Given the description of an element on the screen output the (x, y) to click on. 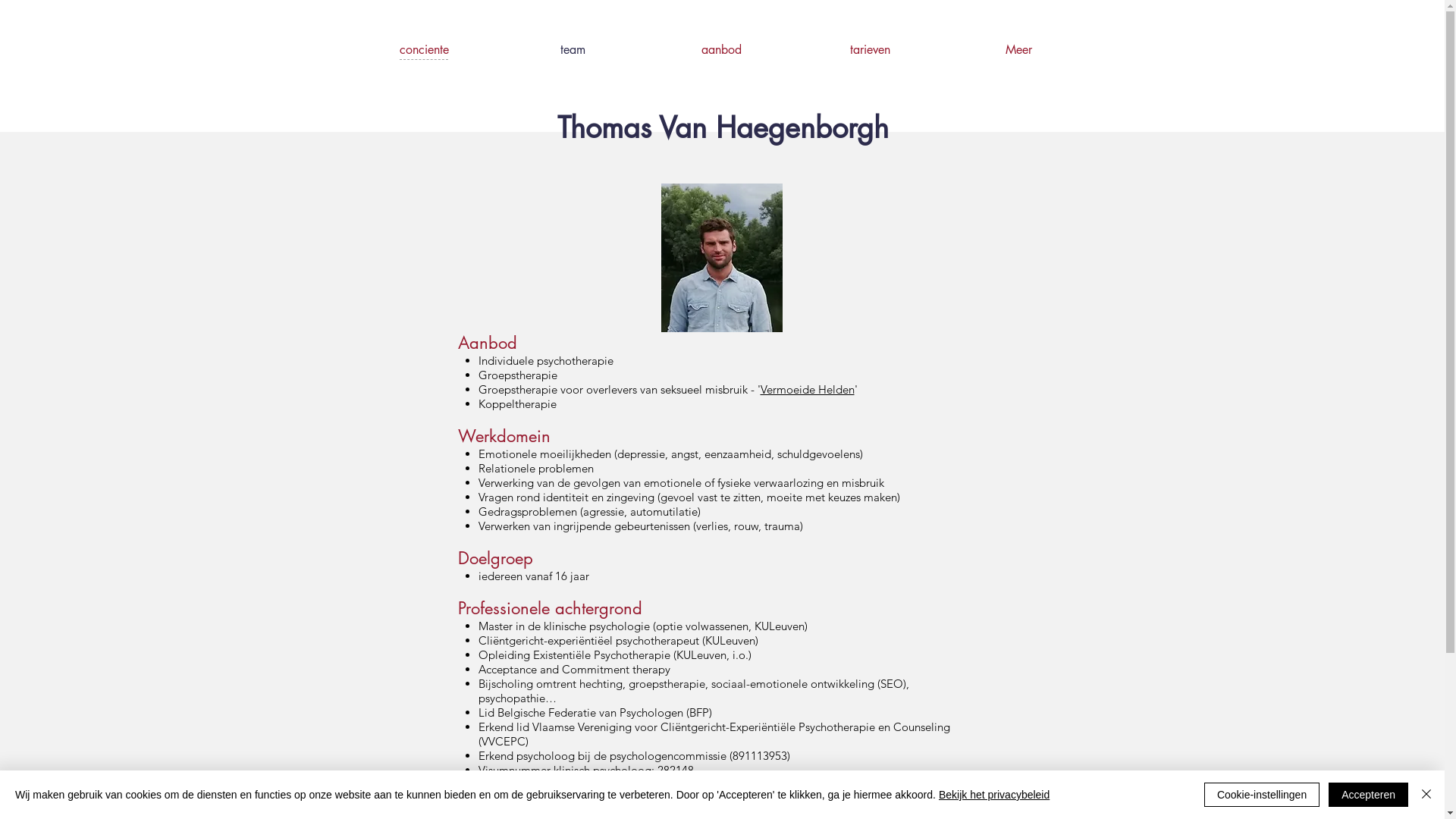
Accepteren Element type: text (1368, 794)
team Element type: text (572, 50)
conciente Element type: text (424, 50)
aanbod Element type: text (721, 50)
Bekijk het privacybeleid Element type: text (993, 794)
Cookie-instellingen Element type: text (1261, 794)
tarieven Element type: text (870, 50)
Vermoeide Helden Element type: text (806, 389)
